Given the description of an element on the screen output the (x, y) to click on. 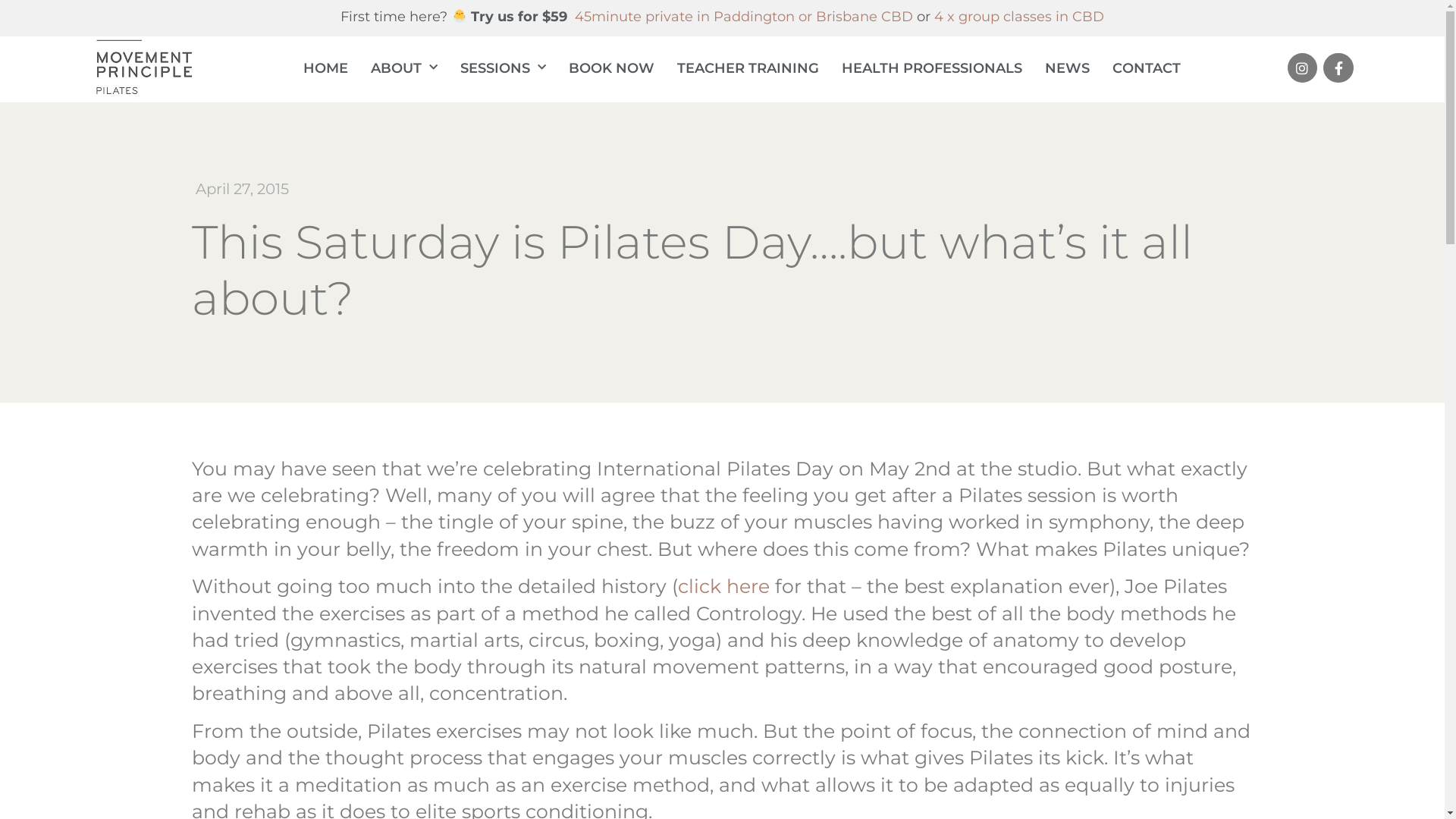
CONTACT Element type: text (1146, 68)
ABOUT Element type: text (403, 68)
BOOK NOW Element type: text (611, 68)
April 27, 2015 Element type: text (239, 189)
HEALTH PROFESSIONALS Element type: text (931, 68)
TEACHER TRAINING Element type: text (748, 68)
HOME Element type: text (325, 68)
NEWS Element type: text (1066, 68)
SESSIONS Element type: text (503, 68)
4 x group classes in CBD Element type: text (1019, 16)
click here Element type: text (723, 585)
45minute private in Paddington or Brisbane CBD Element type: text (743, 16)
